Given the description of an element on the screen output the (x, y) to click on. 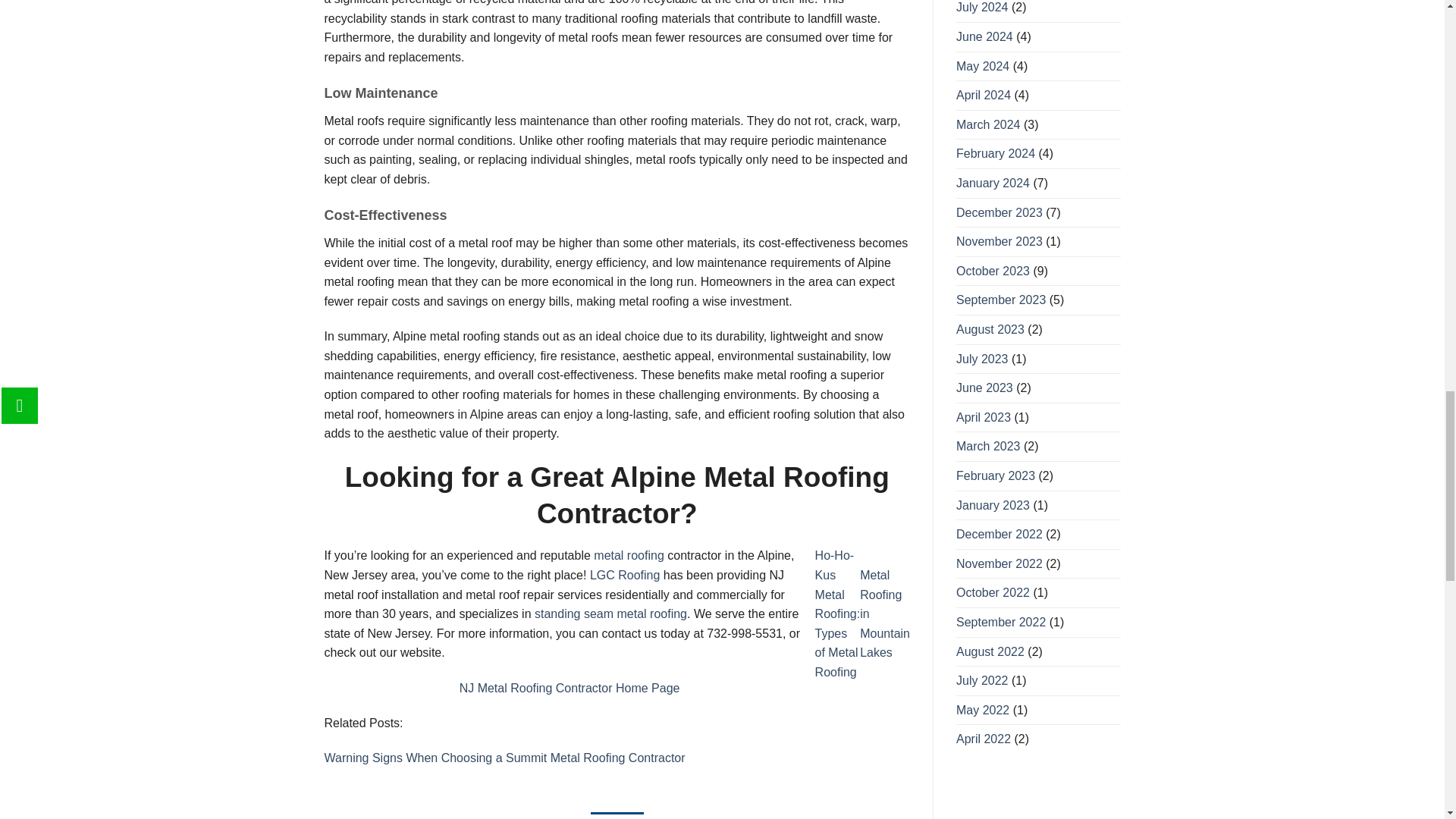
standing seam metal roofing (610, 613)
LGC Roofing (625, 574)
NJ Metal Roofing Contractor Home Page (569, 687)
metal roofing (628, 554)
